Given the description of an element on the screen output the (x, y) to click on. 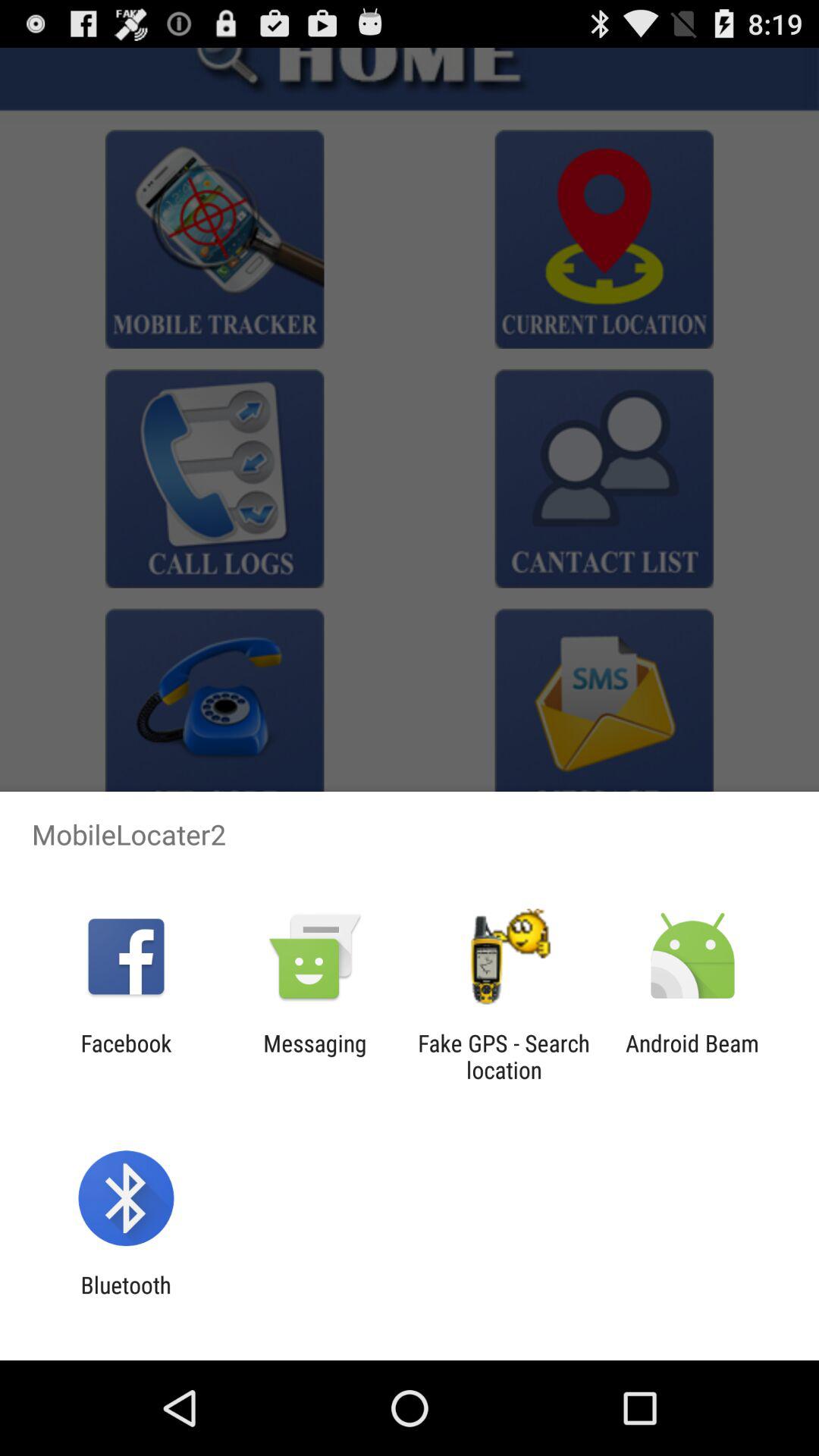
launch icon next to messaging (503, 1056)
